Given the description of an element on the screen output the (x, y) to click on. 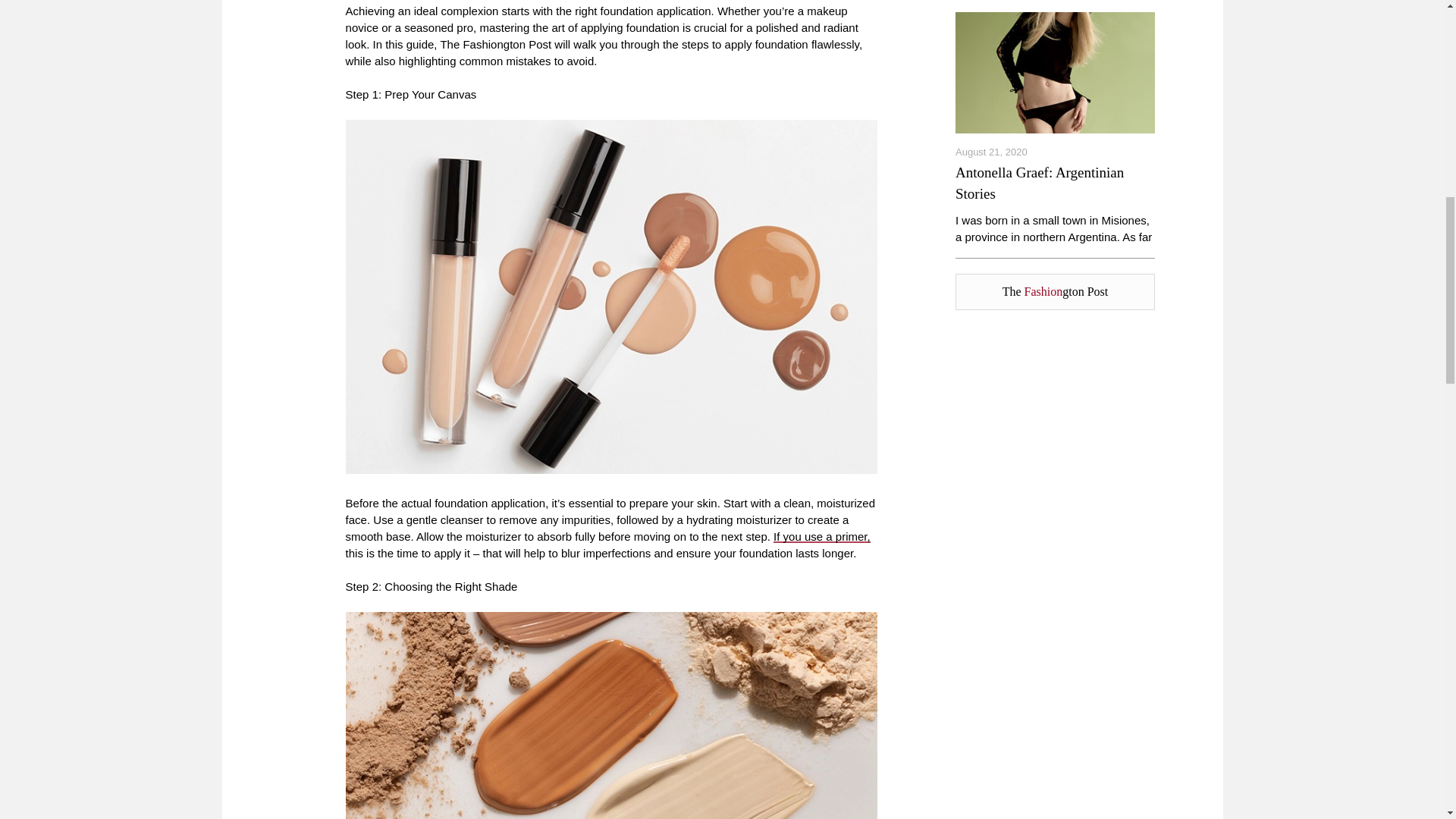
If you use a primer, (821, 535)
